Given the description of an element on the screen output the (x, y) to click on. 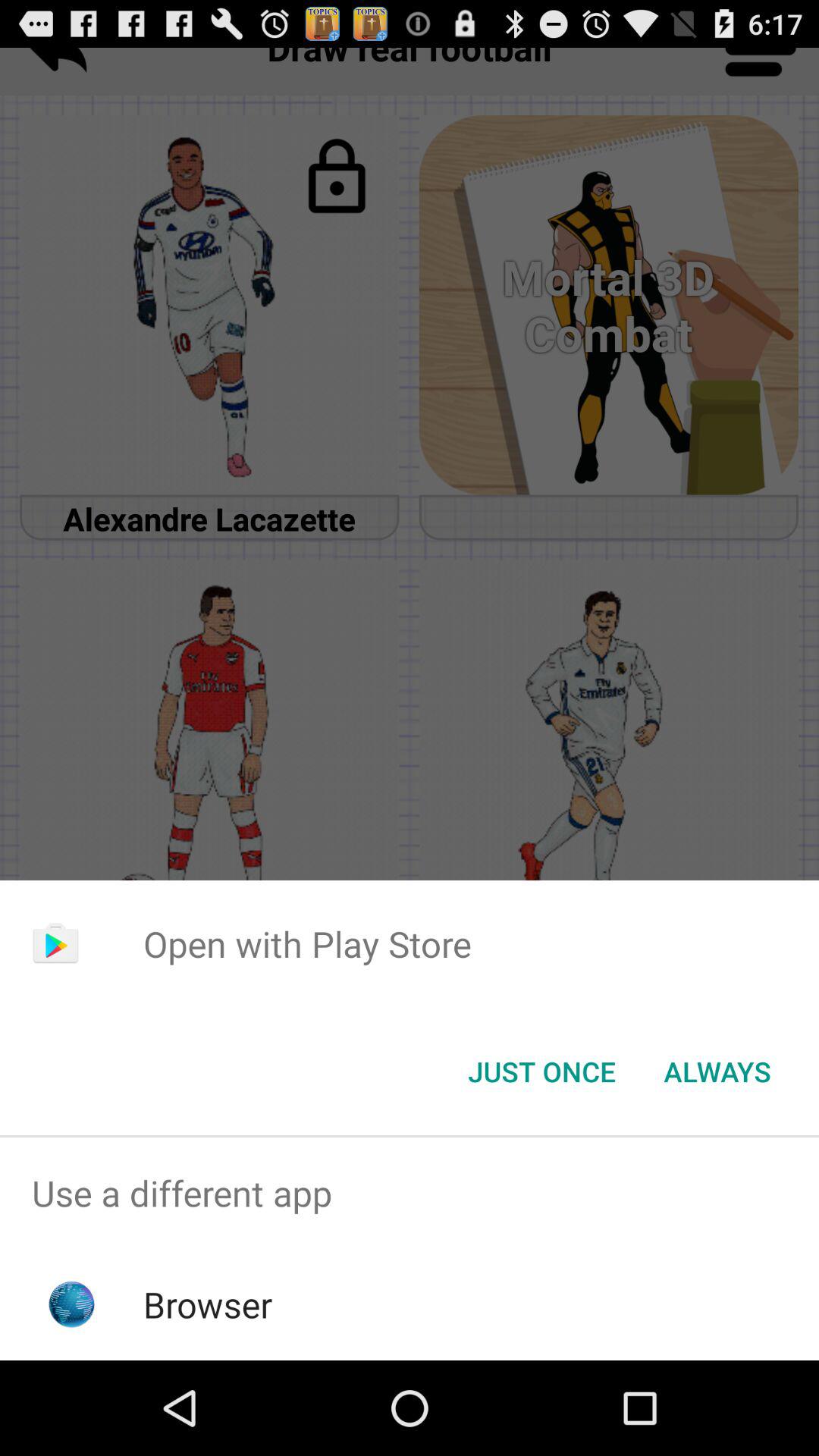
turn on browser (207, 1304)
